Given the description of an element on the screen output the (x, y) to click on. 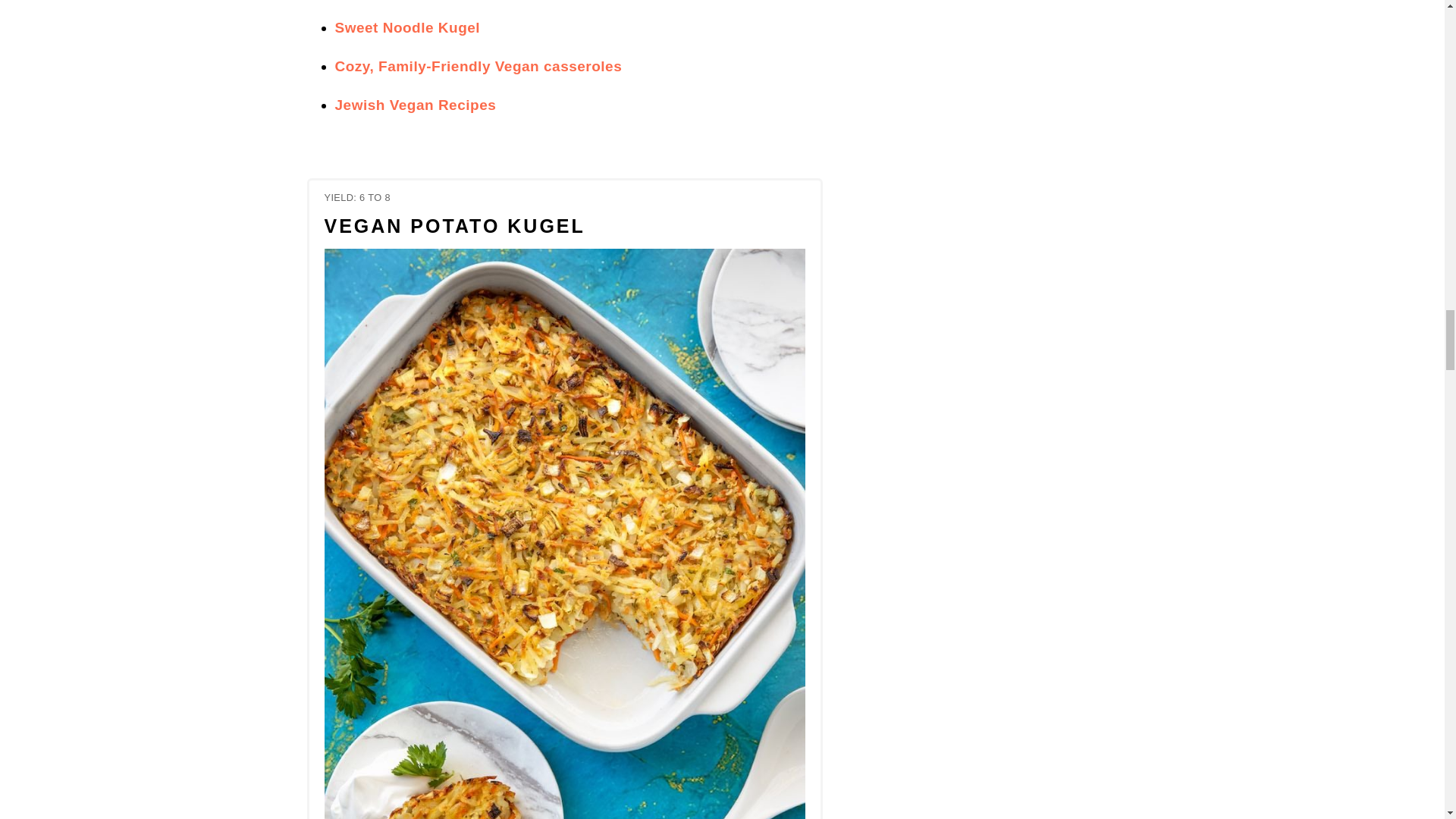
Sweet Noodle Kugel (407, 27)
